Given the description of an element on the screen output the (x, y) to click on. 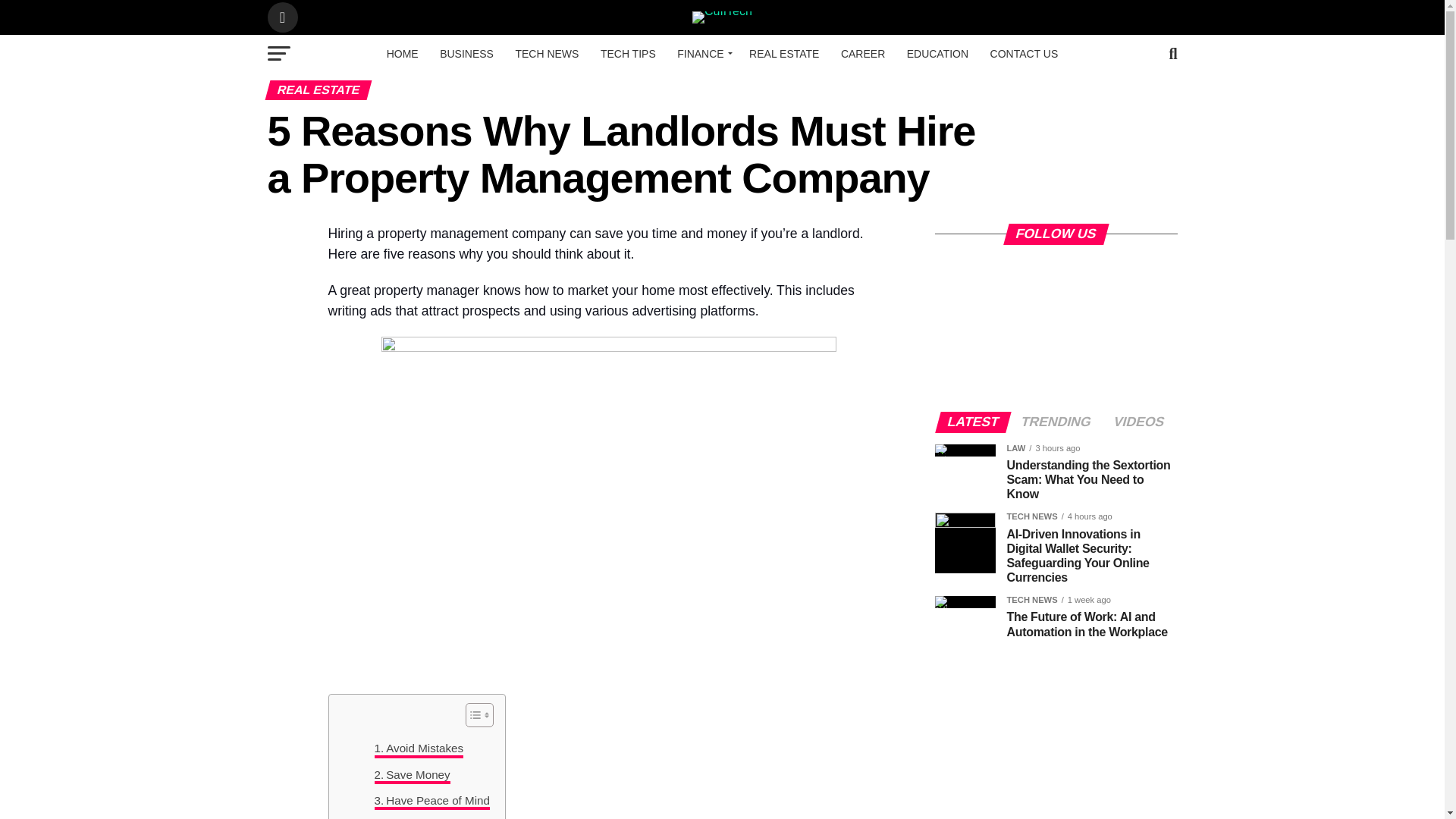
BUSINESS (466, 53)
Save Time (407, 818)
Save Money (411, 774)
TECH TIPS (628, 53)
Have Peace of Mind (431, 800)
HOME (402, 53)
FINANCE (702, 53)
Avoid Mistakes (419, 748)
TECH NEWS (546, 53)
